Given the description of an element on the screen output the (x, y) to click on. 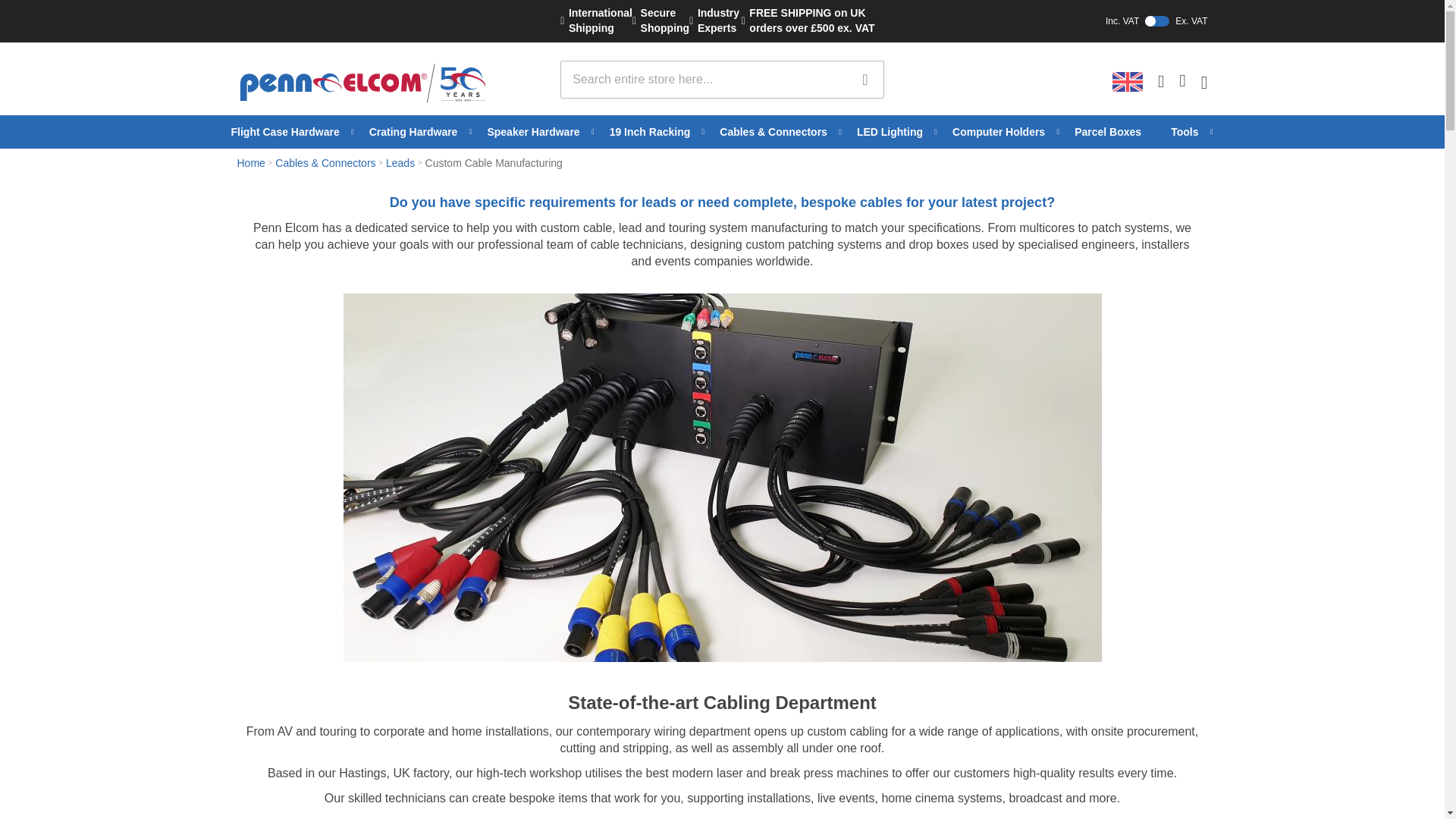
Flight Case Hardware (291, 131)
Search (1045, 21)
International Shipping (864, 79)
Search (595, 20)
Secure Shopping (864, 79)
Industry Experts (659, 20)
Go to Home Page (714, 20)
